Given the description of an element on the screen output the (x, y) to click on. 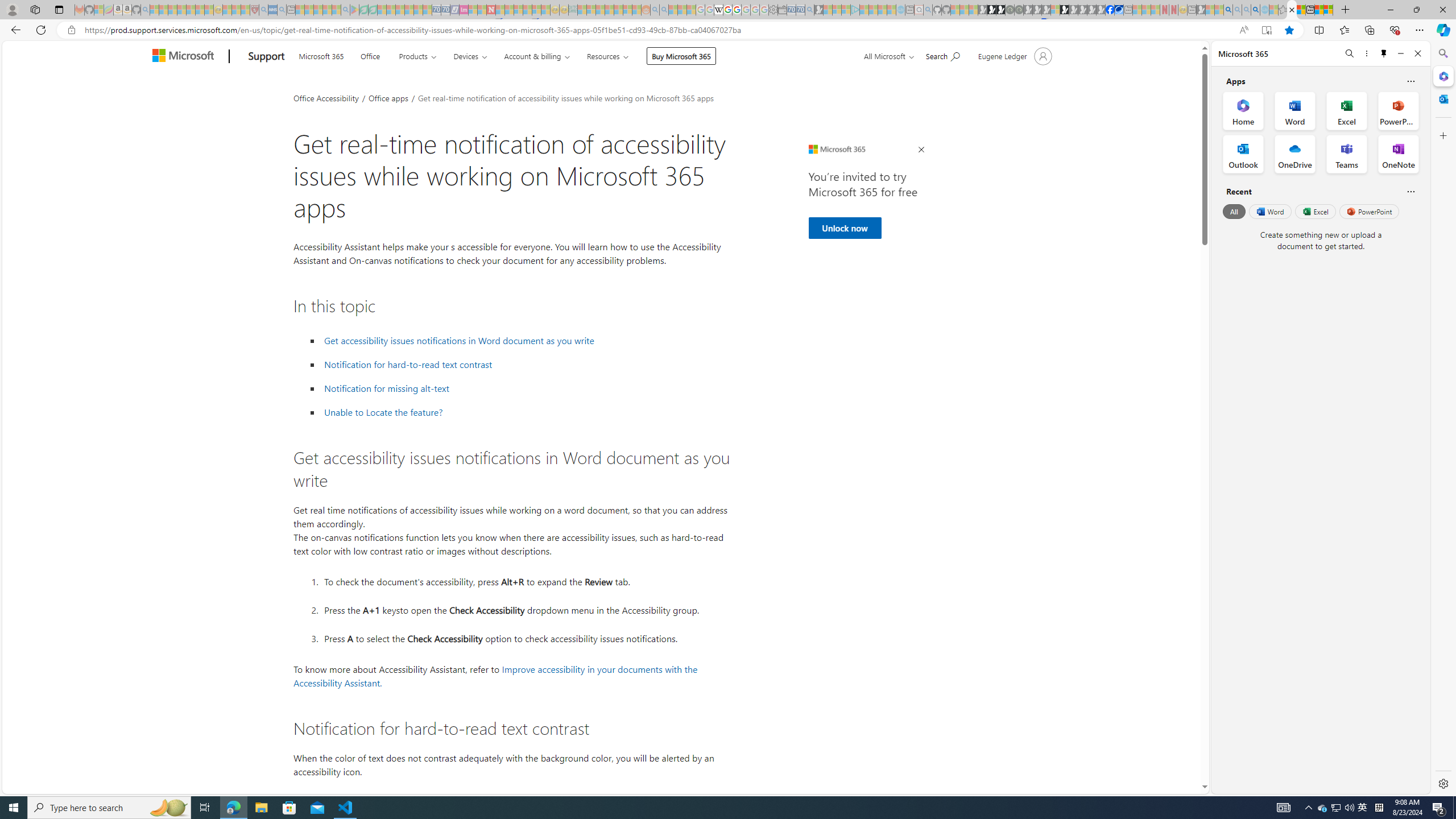
Terms of Use Agreement - Sleeping (362, 9)
MSNBC - MSN - Sleeping (581, 9)
The Weather Channel - MSN - Sleeping (172, 9)
Wallet - Sleeping (782, 9)
Word (1269, 210)
Home Office App (1243, 110)
Excel (1315, 210)
